Given the description of an element on the screen output the (x, y) to click on. 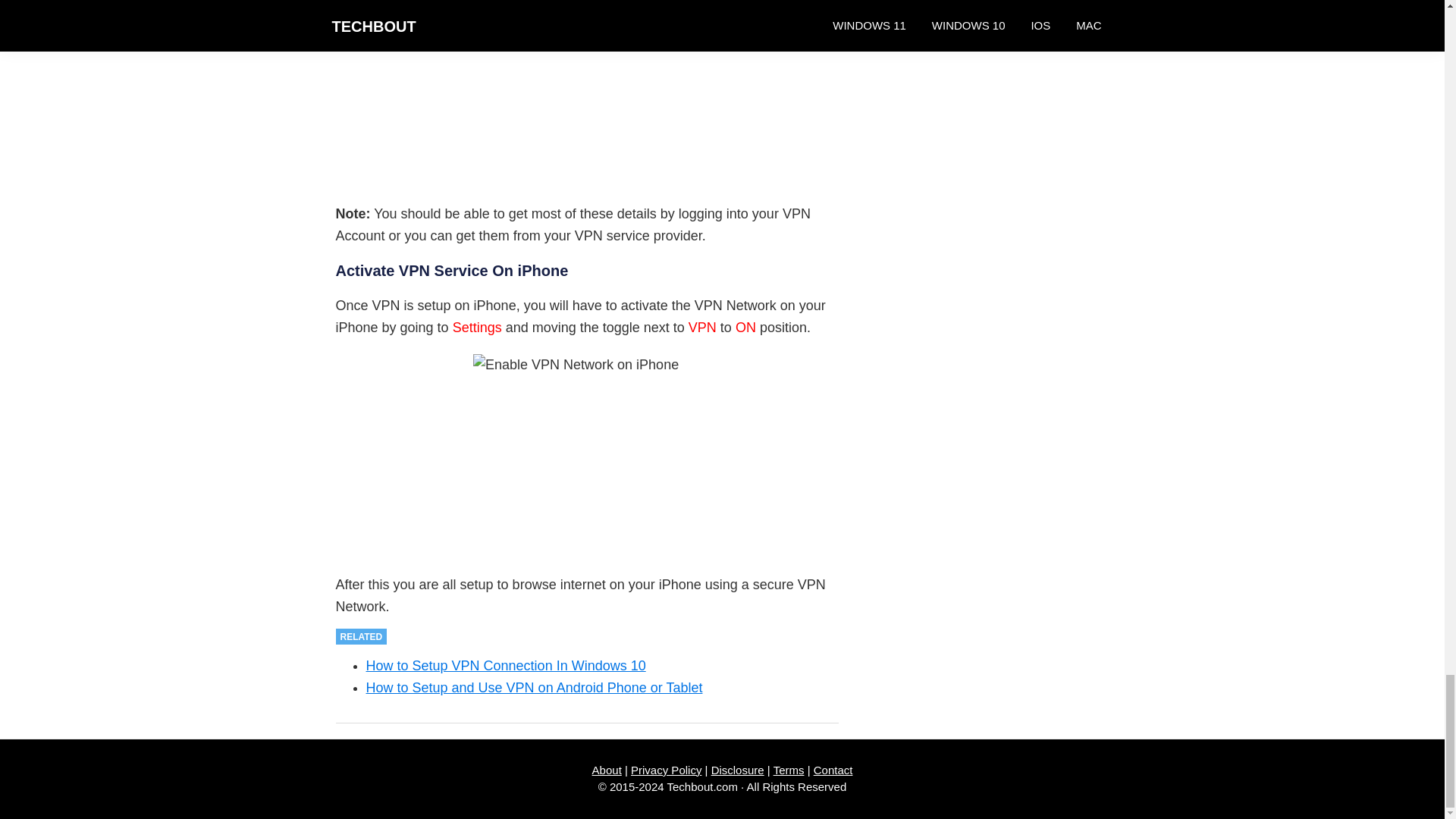
Privacy Policy (665, 769)
Contact (833, 769)
About (606, 769)
How to Setup and Use VPN on Android Phone or Tablet (533, 687)
Enable VPN Network on iPhone (586, 452)
Disclosure (737, 769)
Terms (789, 769)
Configure VPN Network on iPhone (586, 90)
How to Setup VPN Connection In Windows 10 (505, 665)
